Given the description of an element on the screen output the (x, y) to click on. 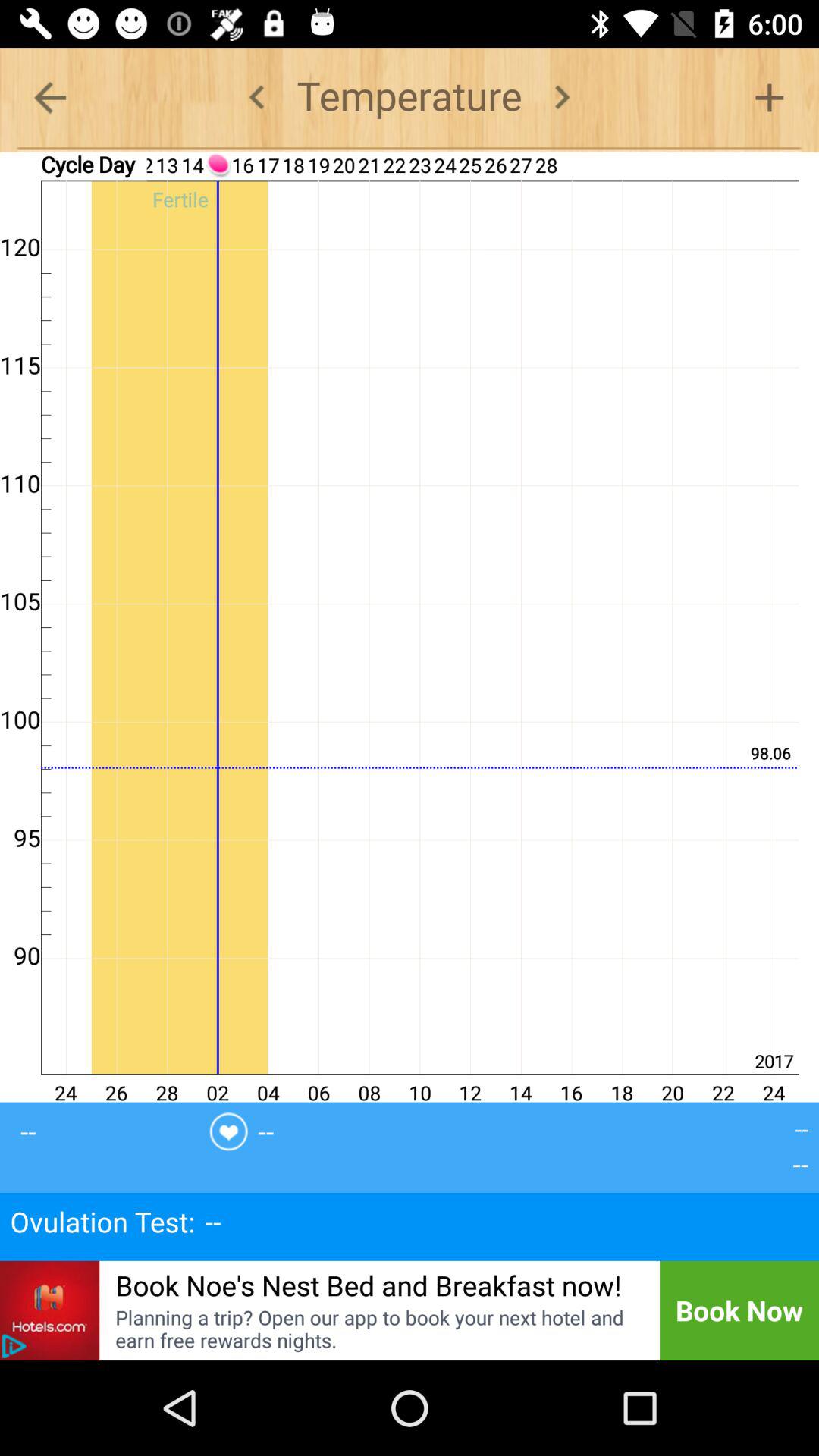
because back devicer (256, 97)
